Given the description of an element on the screen output the (x, y) to click on. 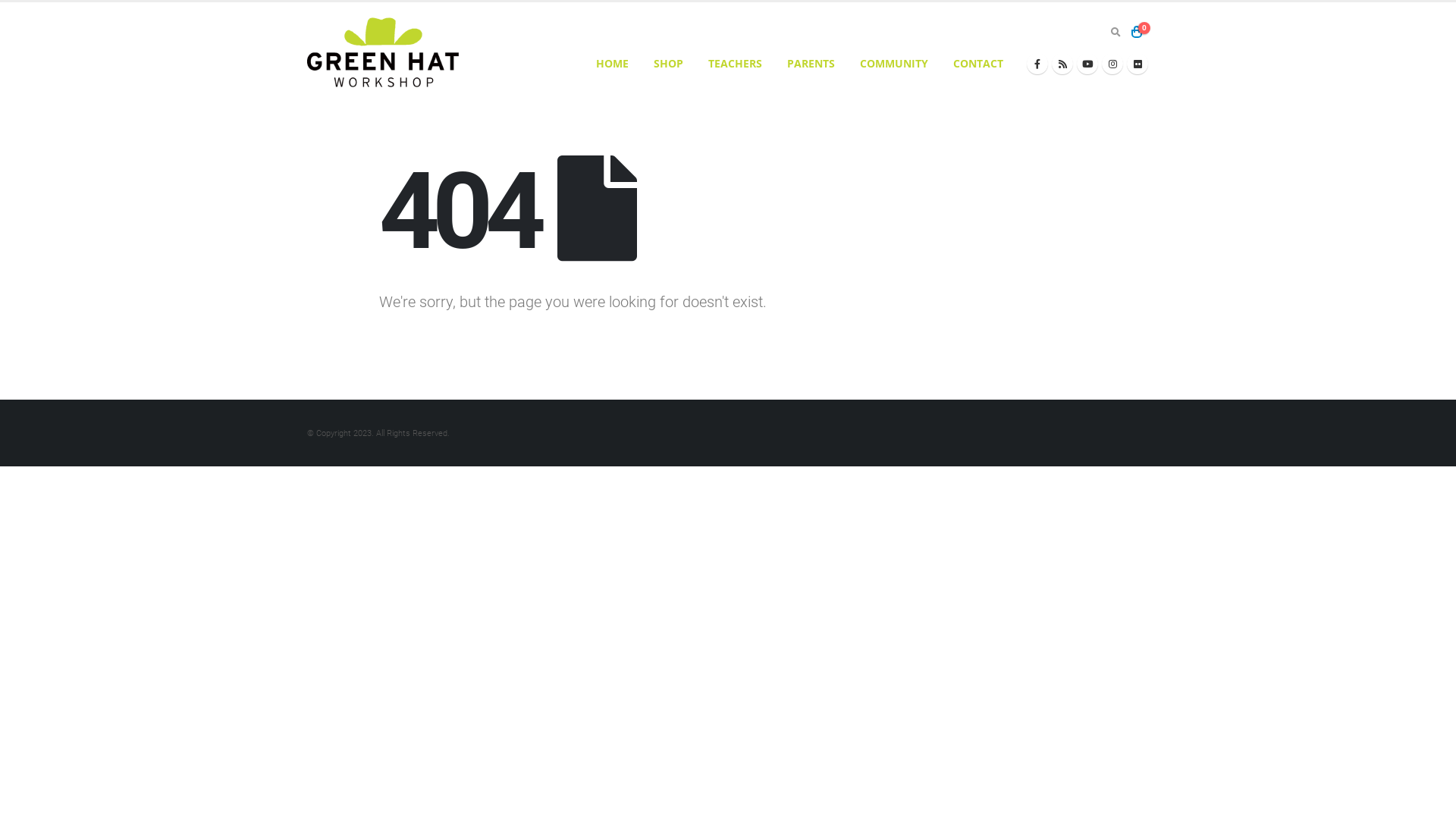
PARENTS Element type: text (811, 63)
CONTACT Element type: text (978, 63)
Greenhatworkshop - Inspiring Creative Minds Element type: hover (382, 52)
RSS Element type: hover (1062, 63)
Facebook Element type: hover (1037, 63)
Flickr Element type: hover (1137, 63)
HOME Element type: text (611, 63)
COMMUNITY Element type: text (893, 63)
Youtube Element type: hover (1087, 63)
Instagram Element type: hover (1112, 63)
SHOP Element type: text (668, 63)
TEACHERS Element type: text (735, 63)
